Given the description of an element on the screen output the (x, y) to click on. 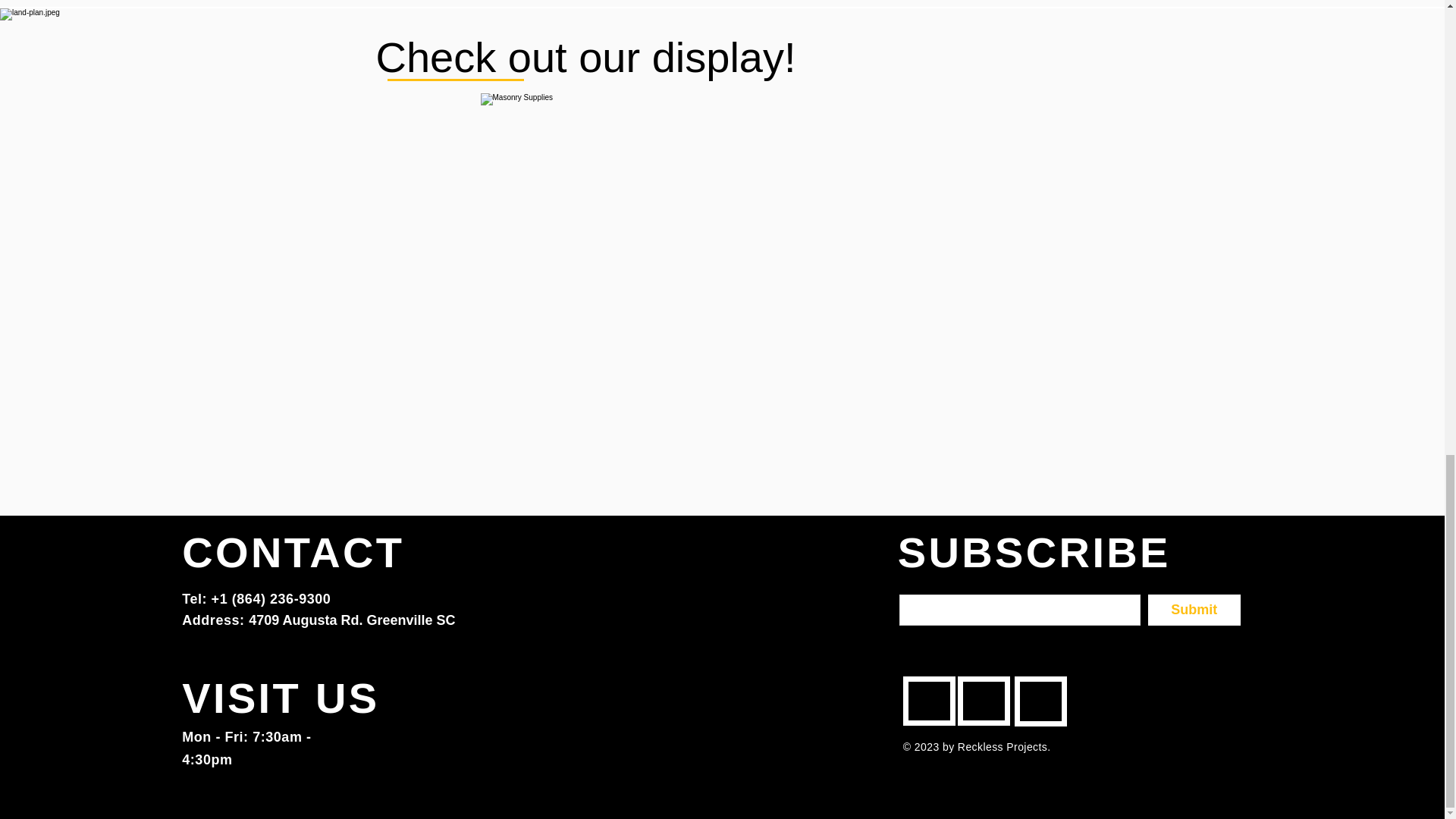
Submit (1194, 609)
